Given the description of an element on the screen output the (x, y) to click on. 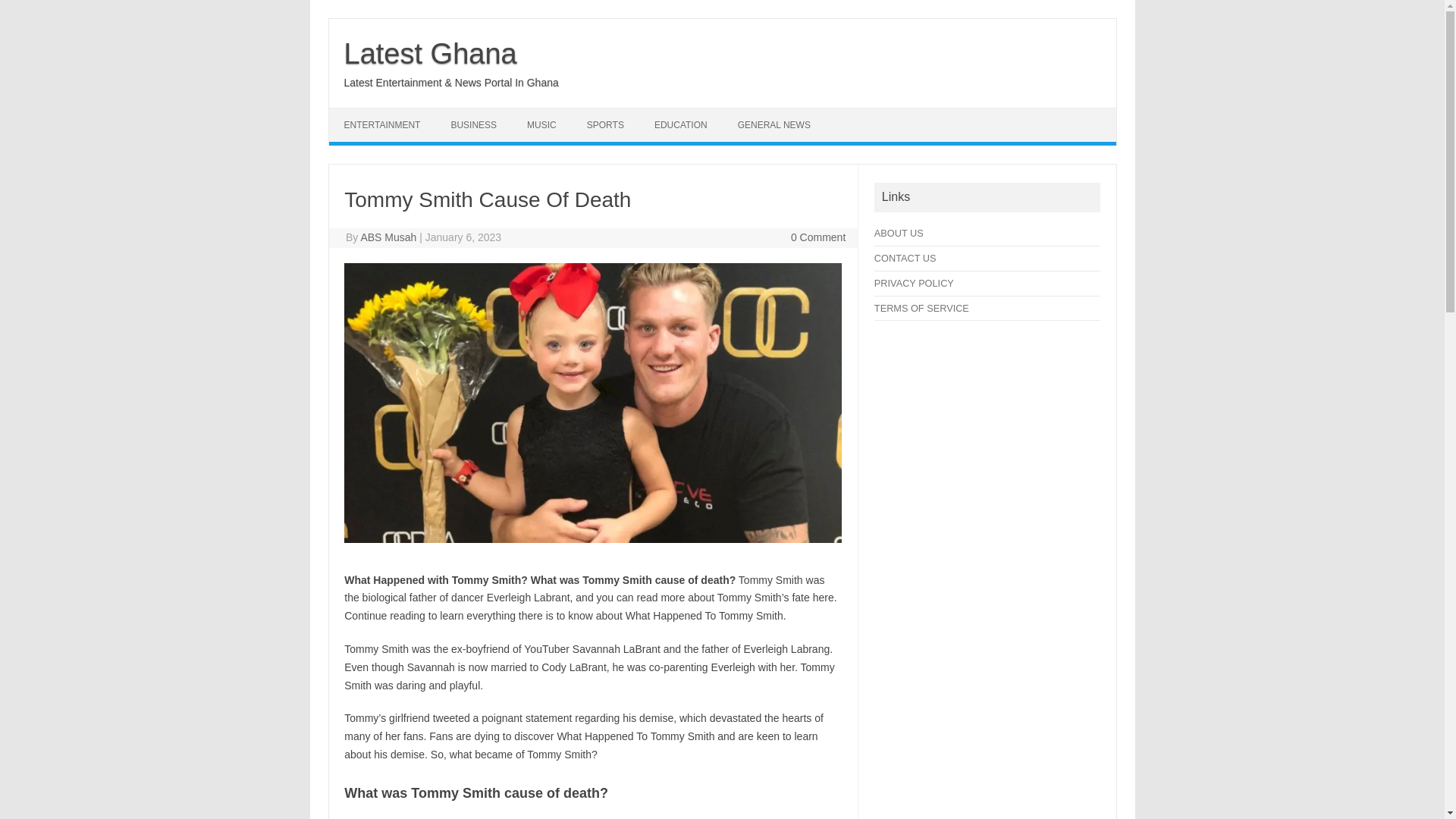
BUSINESS (473, 124)
GENERAL NEWS (773, 124)
0 Comment (817, 236)
CONTACT US (905, 257)
TERMS OF SERVICE (922, 307)
PRIVACY POLICY (914, 283)
MUSIC (542, 124)
ABOUT US (899, 233)
SPORTS (605, 124)
